Given the description of an element on the screen output the (x, y) to click on. 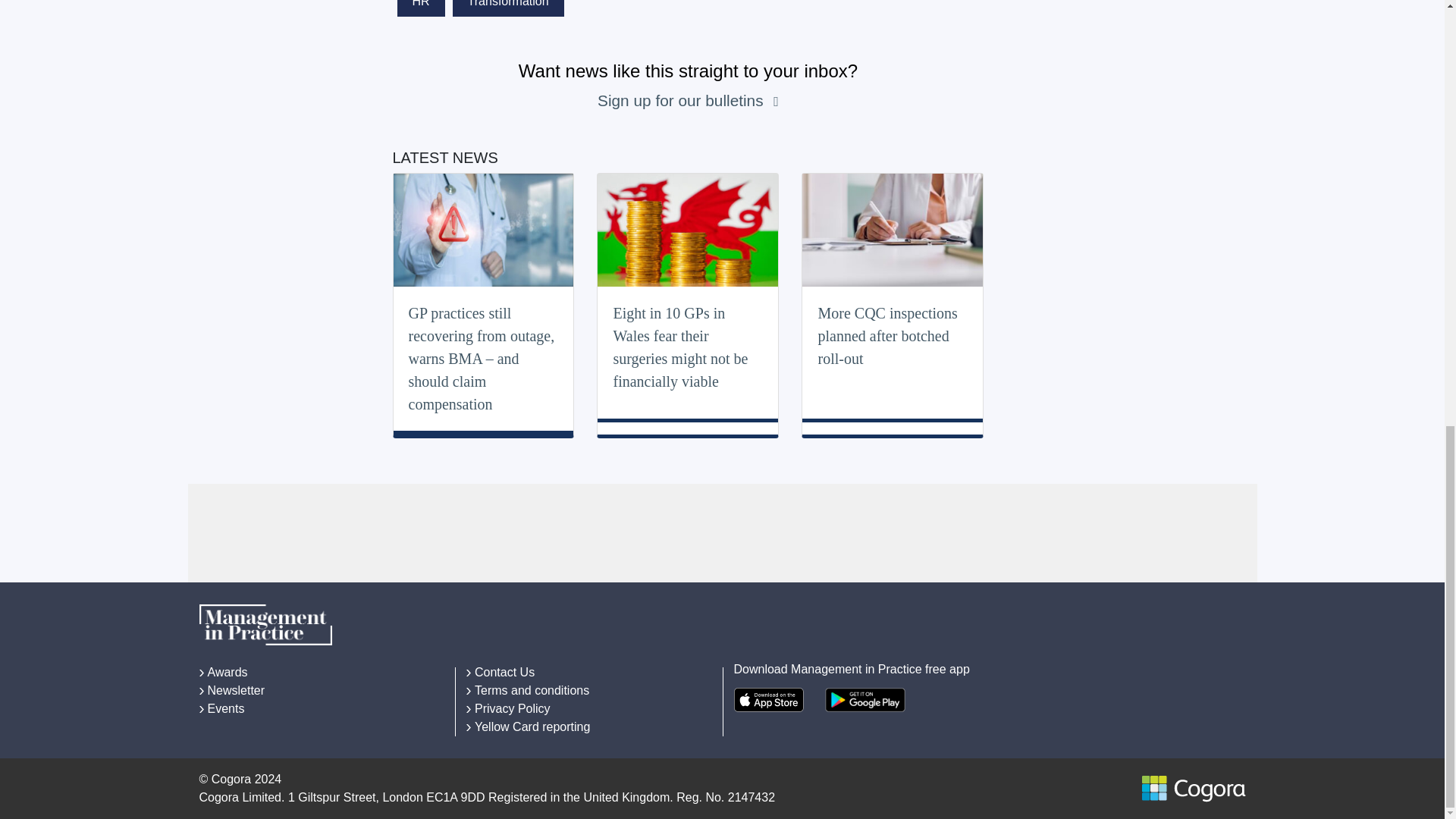
Download our app from the Apple App Store (768, 699)
Download our app from Google Play (865, 699)
Sign up for our bulletins (681, 99)
